Given the description of an element on the screen output the (x, y) to click on. 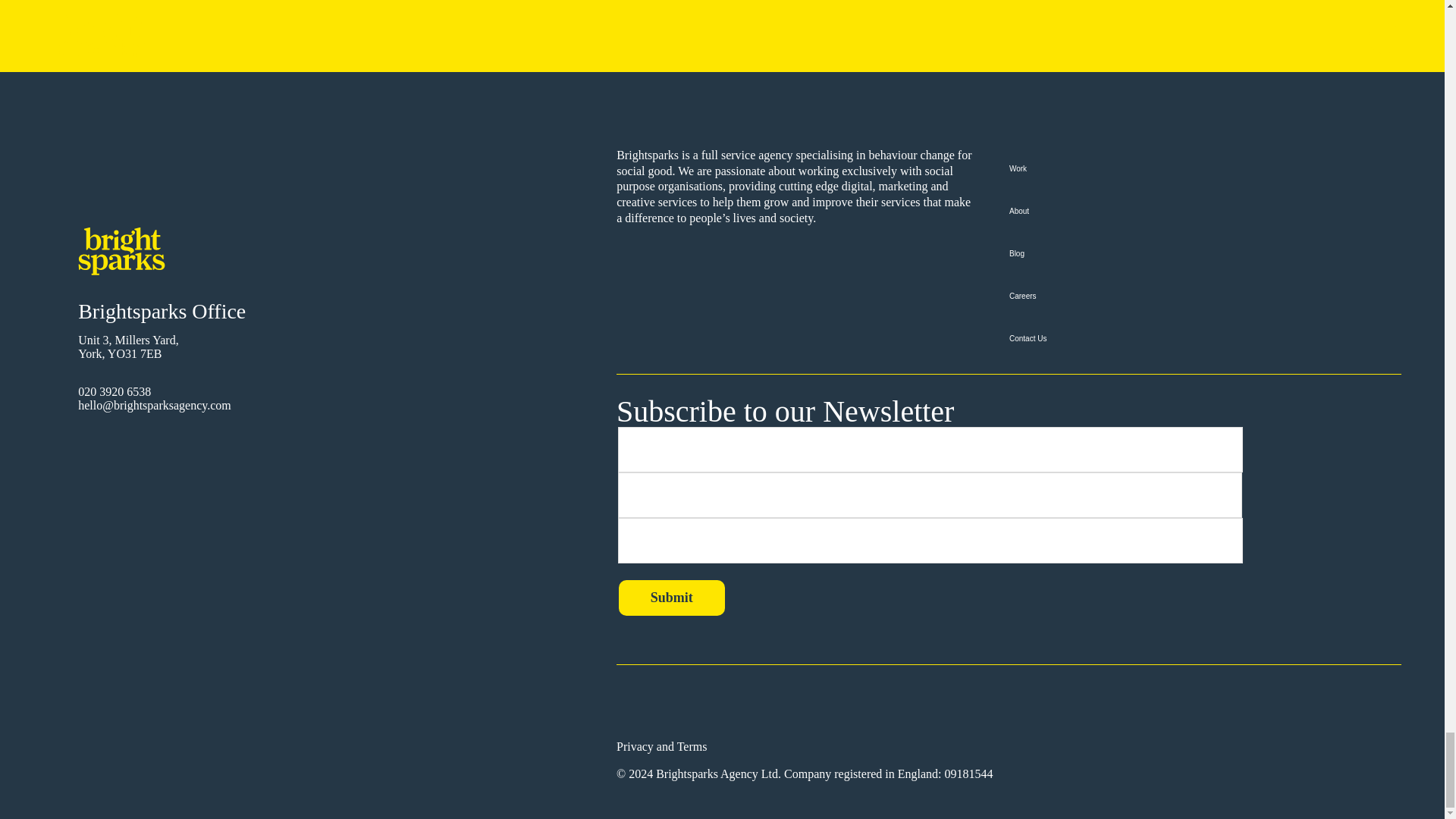
Submit (671, 597)
Contact Us (1204, 338)
Privacy and Terms (660, 746)
About (1204, 211)
Blog (1204, 253)
Work (1204, 169)
020 3920 6538 (114, 311)
Careers (1204, 296)
